Given the description of an element on the screen output the (x, y) to click on. 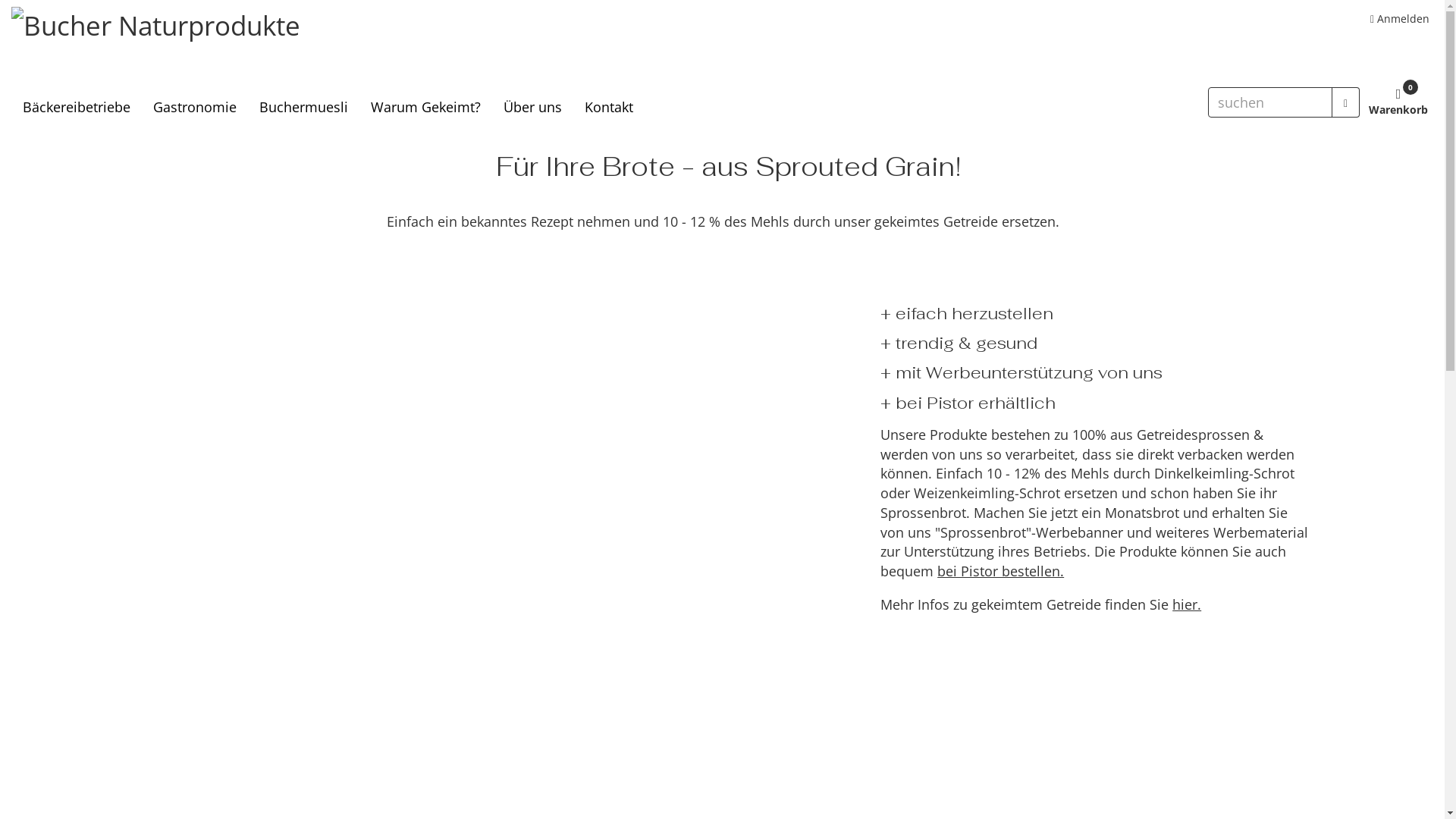
Buchermuesli Element type: text (303, 106)
0 Element type: text (1398, 94)
Warum Gekeimt? Element type: text (425, 106)
bei Pistor bestellen. Element type: text (1000, 570)
Warenkorb Element type: text (1397, 109)
hier. Element type: text (1186, 604)
Anmelden Element type: text (1399, 18)
Gastronomie Element type: text (194, 106)
Kontakt Element type: text (608, 106)
